Given the description of an element on the screen output the (x, y) to click on. 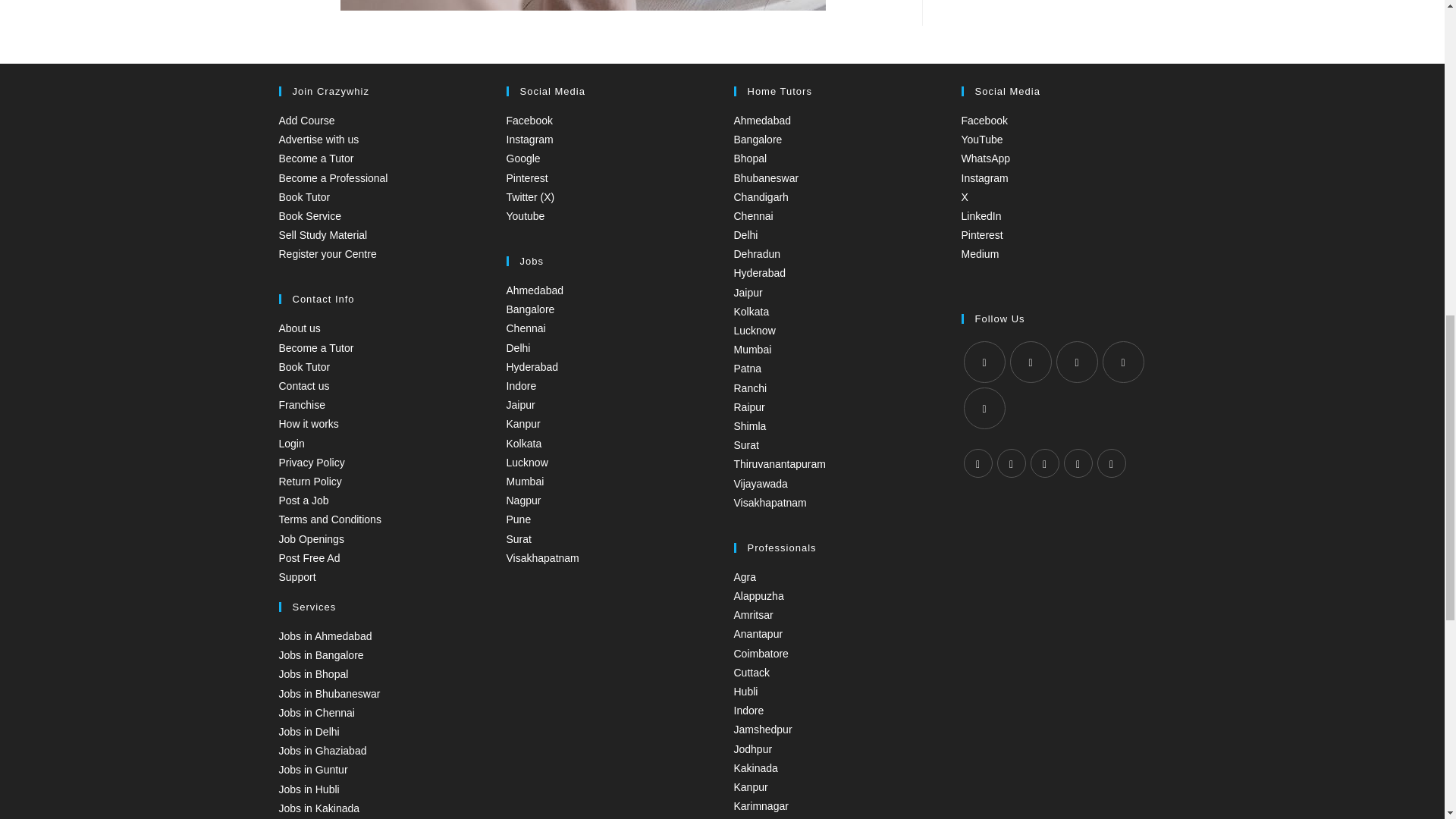
Sell Study Material (323, 234)
Add Course (306, 120)
About us (299, 328)
Become a Tutor (316, 158)
Book Service (309, 215)
Register your Centre (328, 254)
Book Tutor (304, 367)
Book Tutor (304, 196)
Become a Tutor (316, 347)
Become a Professional (333, 177)
Advertise with us (319, 139)
